Given the description of an element on the screen output the (x, y) to click on. 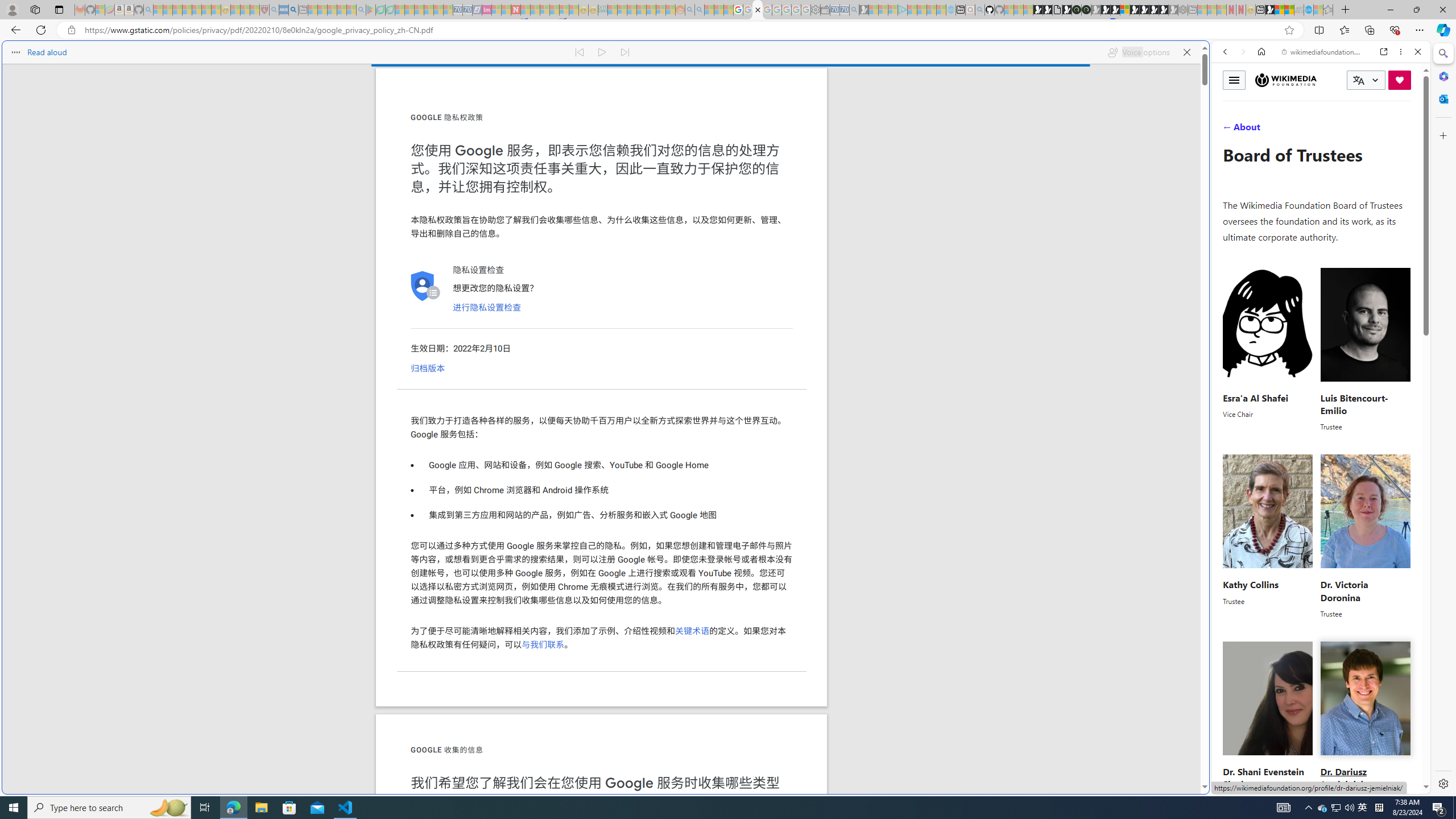
Dr. Dariusz JemielniakTrustee (1365, 723)
Luis Bitencourt-EmilioTrustee (1365, 349)
wikimediafoundation.org (1323, 51)
